Given the description of an element on the screen output the (x, y) to click on. 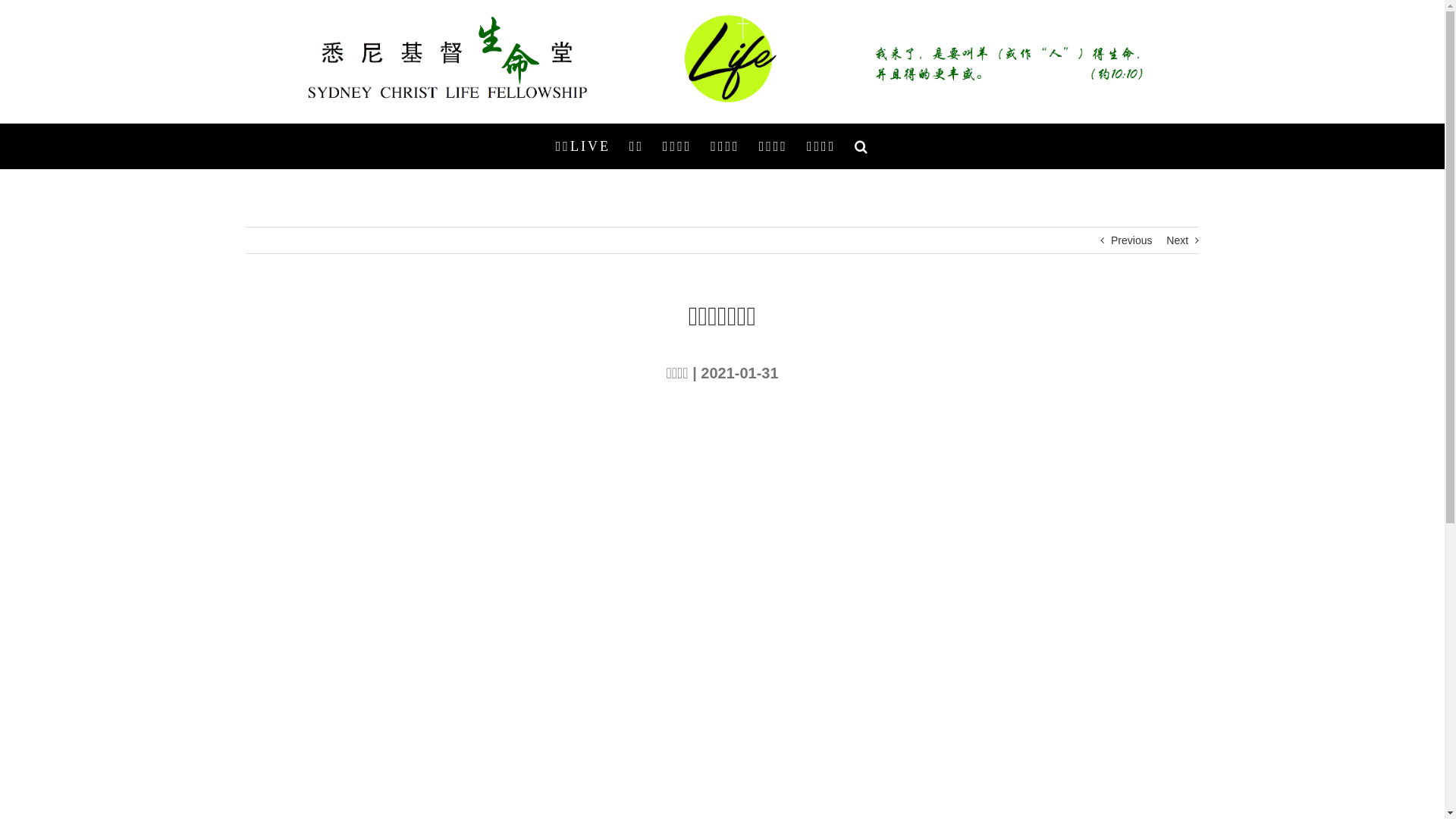
Next Element type: text (1177, 240)
Search Element type: hover (861, 146)
Previous Element type: text (1130, 240)
